Given the description of an element on the screen output the (x, y) to click on. 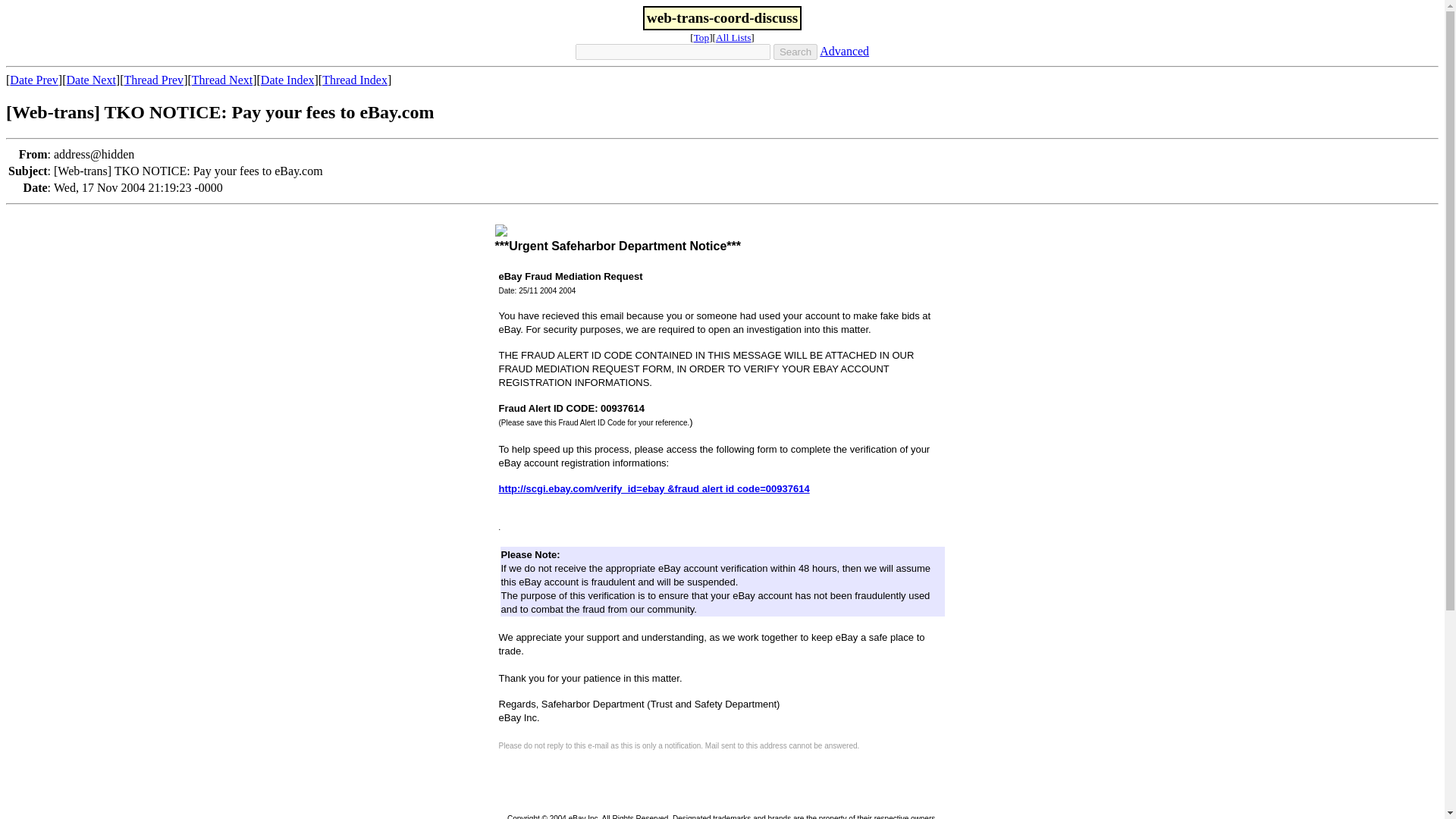
Thread Next (221, 79)
Thread Prev (153, 79)
Thread Index (354, 79)
Search (794, 51)
Date Index (287, 79)
Search (794, 51)
All Lists (733, 37)
Date Prev (34, 79)
Top (702, 37)
Advanced (844, 51)
Date Next (91, 79)
